Given the description of an element on the screen output the (x, y) to click on. 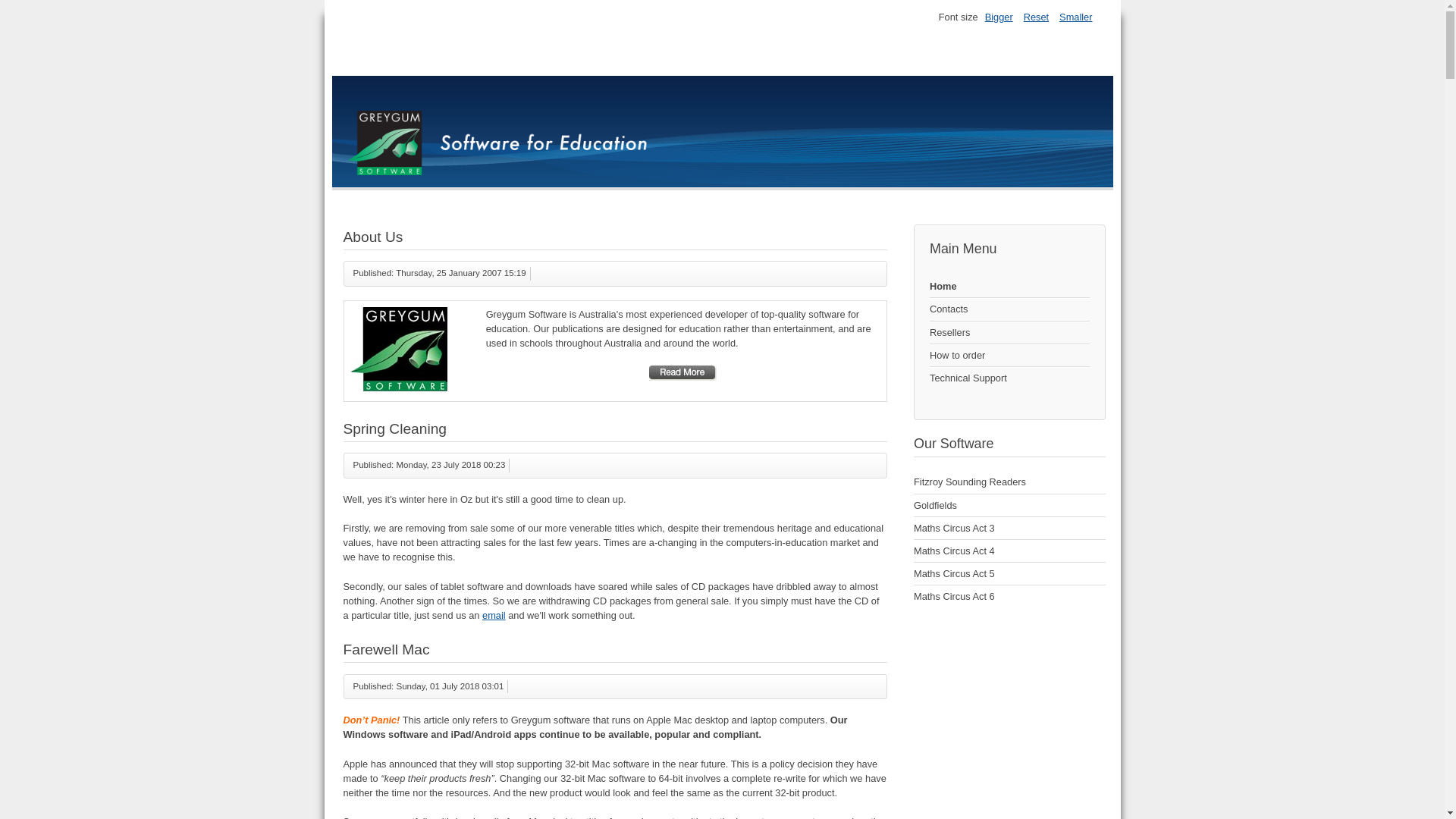
Maths Circus Act 3 Element type: text (1009, 528)
Technical Support Element type: text (1009, 378)
Goldfields Element type: text (1009, 505)
Home Element type: text (1009, 286)
email Element type: text (493, 615)
Resellers Element type: text (1009, 332)
Maths Circus Act 6 Element type: text (1009, 596)
Maths Circus Act 5 Element type: text (1009, 573)
Contacts Element type: text (1009, 309)
Smaller Element type: text (1075, 16)
How to order Element type: text (1009, 355)
Fitzroy Sounding Readers Element type: text (1009, 481)
Reset Element type: text (1035, 16)
Maths Circus Act 4 Element type: text (1009, 550)
Bigger Element type: text (998, 16)
